Given the description of an element on the screen output the (x, y) to click on. 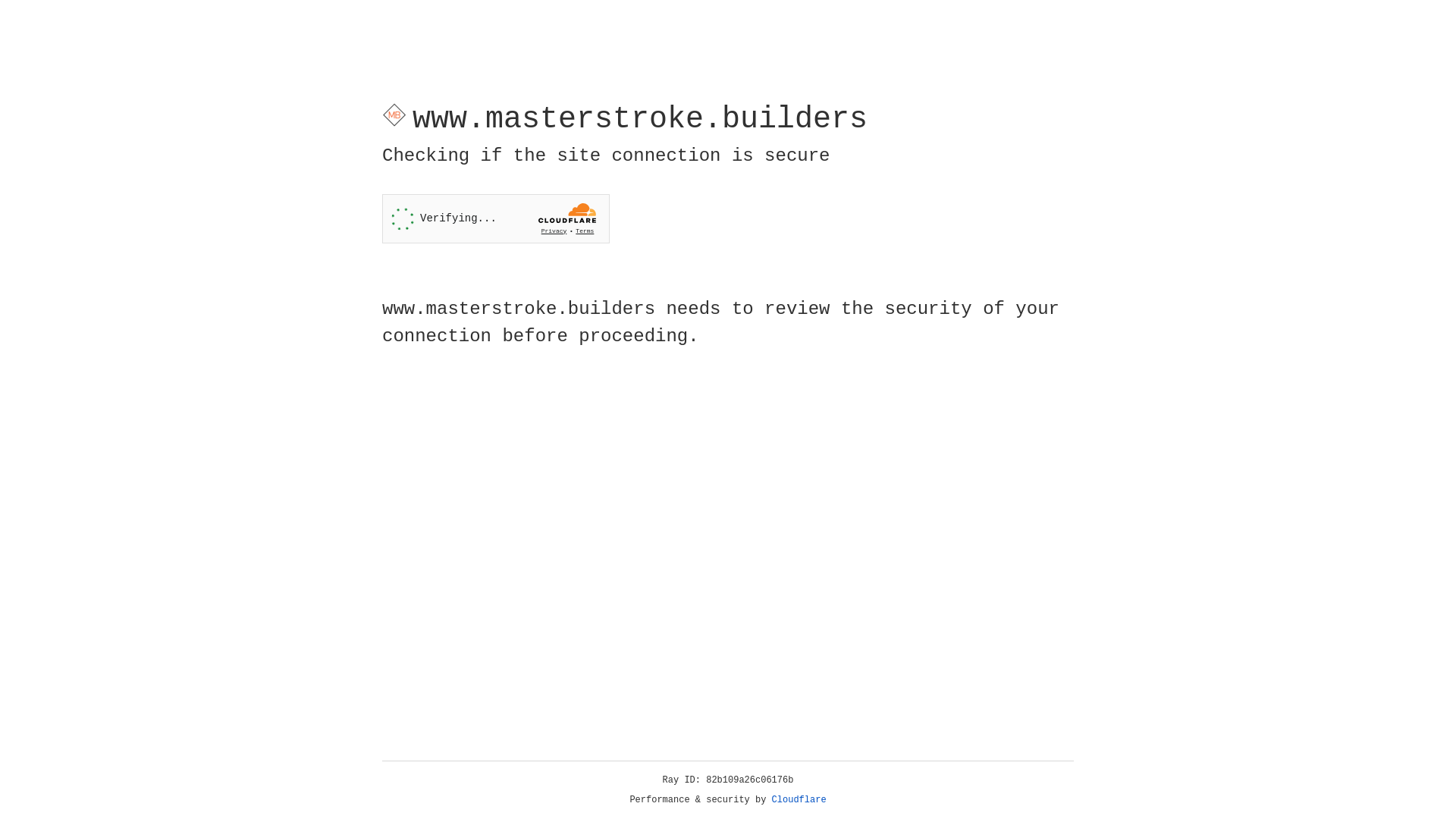
Widget containing a Cloudflare security challenge Element type: hover (495, 218)
Cloudflare Element type: text (798, 799)
